Given the description of an element on the screen output the (x, y) to click on. 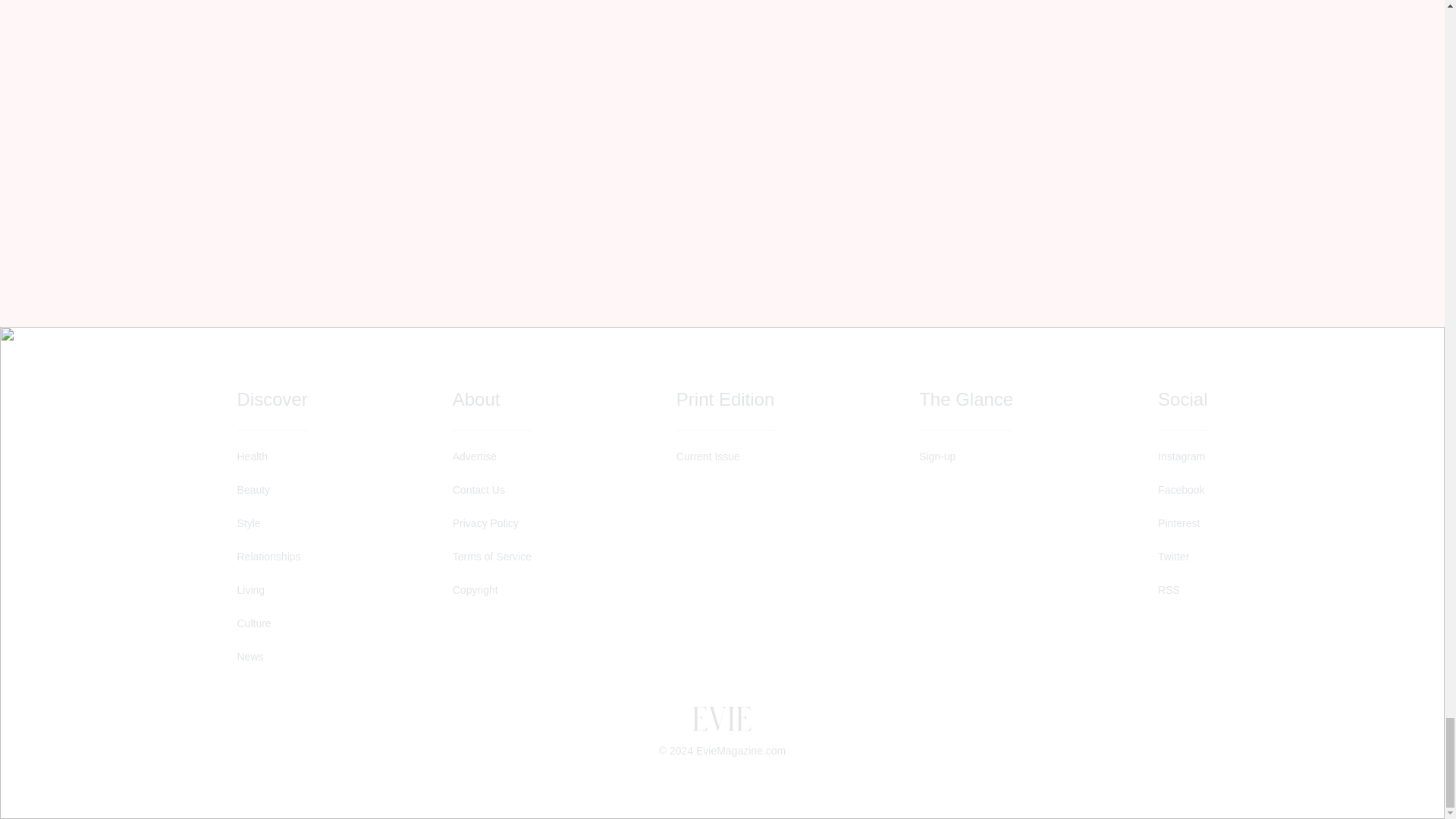
Contact Us (491, 489)
News (271, 656)
Culture (271, 622)
Advertise (491, 456)
Beauty (271, 489)
Style (271, 522)
Relationships (271, 556)
Health (271, 456)
Living (271, 589)
Terms of Service (491, 556)
